Given the description of an element on the screen output the (x, y) to click on. 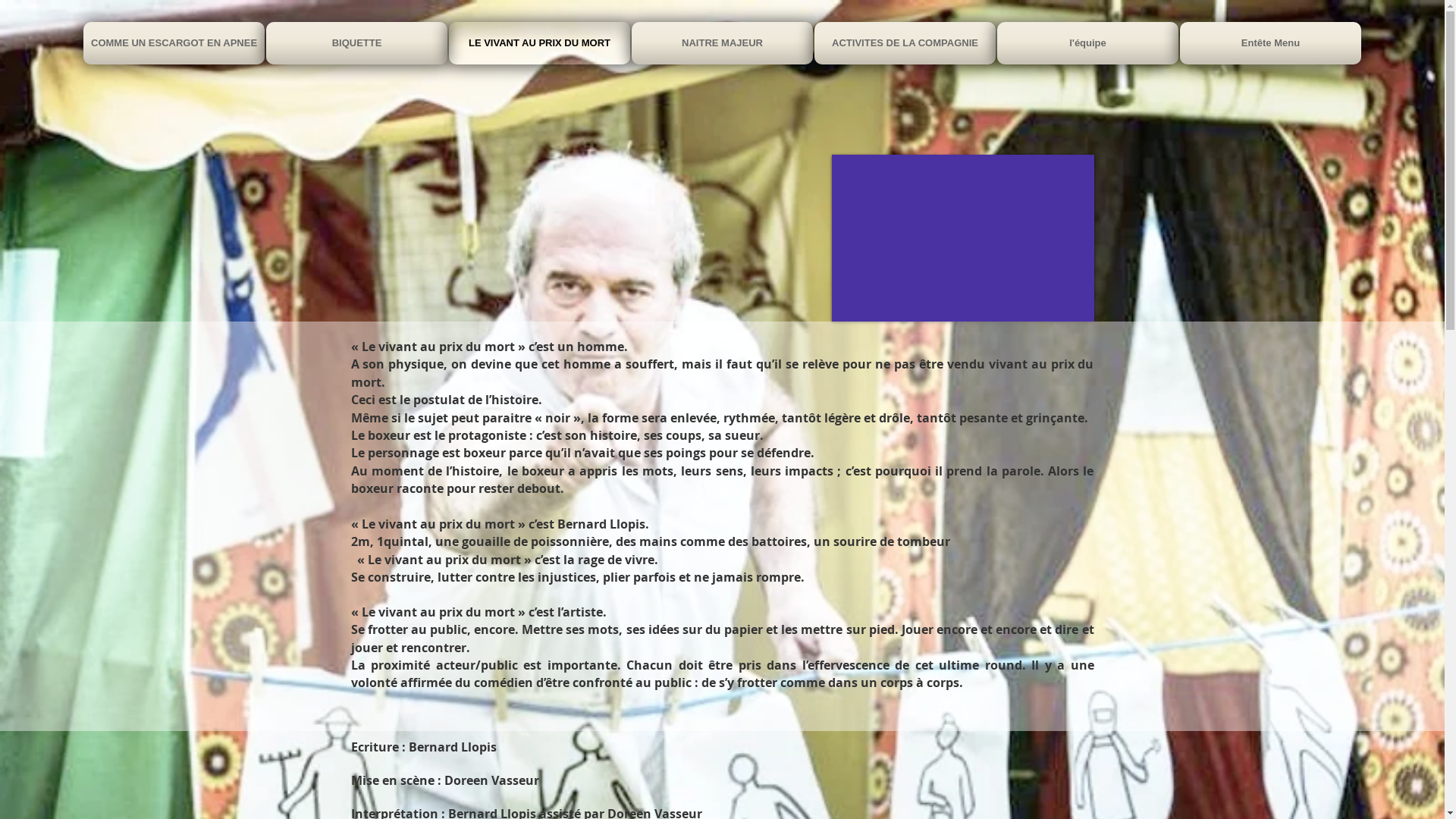
External YouTube Element type: hover (962, 237)
LE VIVANT AU PRIX DU MORT Element type: text (539, 42)
ACTIVITES DE LA COMPAGNIE Element type: text (904, 42)
BIQUETTE Element type: text (356, 42)
COMME UN ESCARGOT EN APNEE Element type: text (173, 42)
NAITRE MAJEUR Element type: text (721, 42)
